Given the description of an element on the screen output the (x, y) to click on. 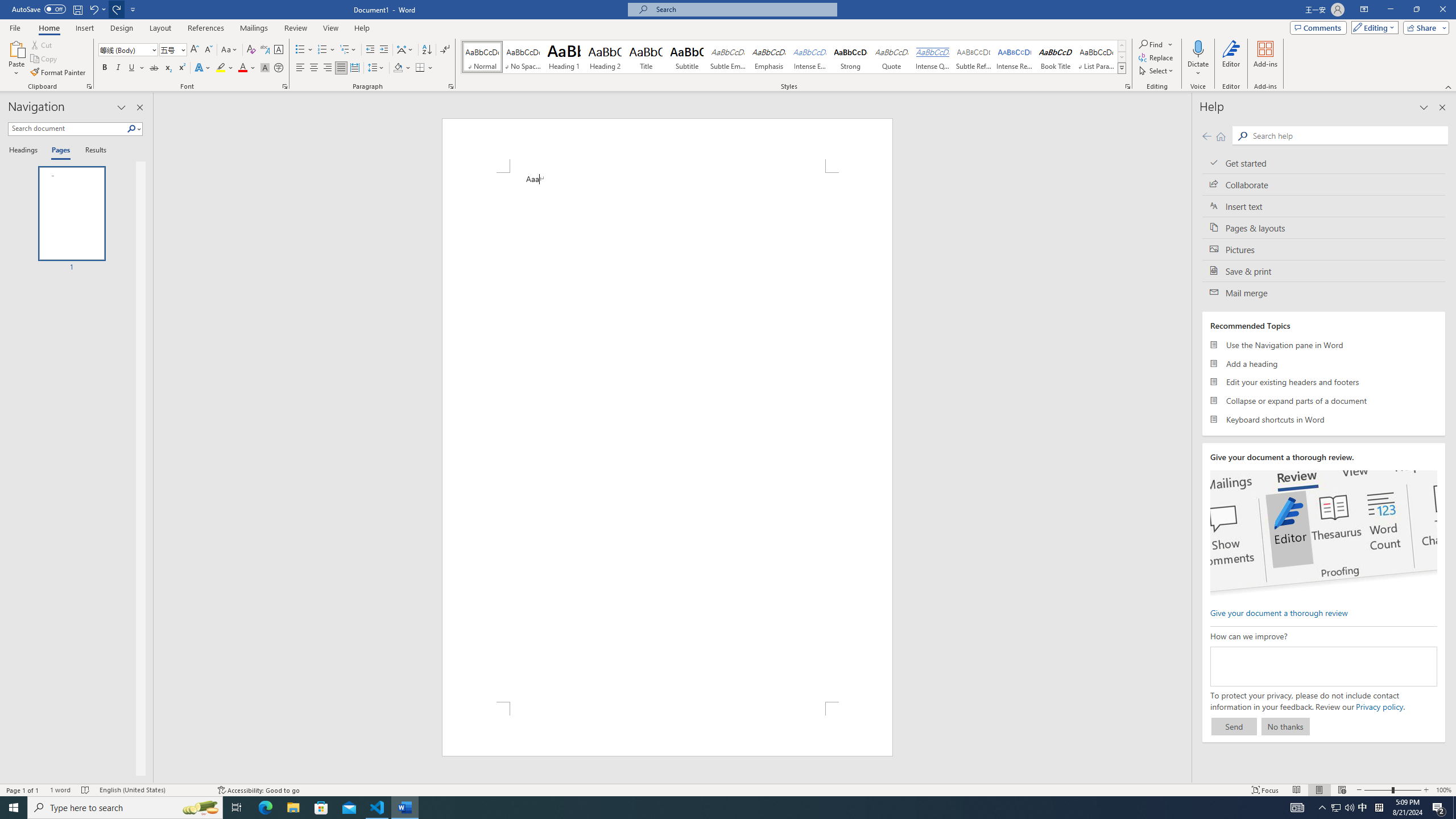
Book Title (1055, 56)
Undo Apply Quick Style (92, 9)
Zoom 100% (1443, 790)
Heading 1 (564, 56)
Use the Navigation pane in Word (1323, 344)
Intense Emphasis (809, 56)
Zoom (1392, 790)
No thanks (1285, 726)
